Given the description of an element on the screen output the (x, y) to click on. 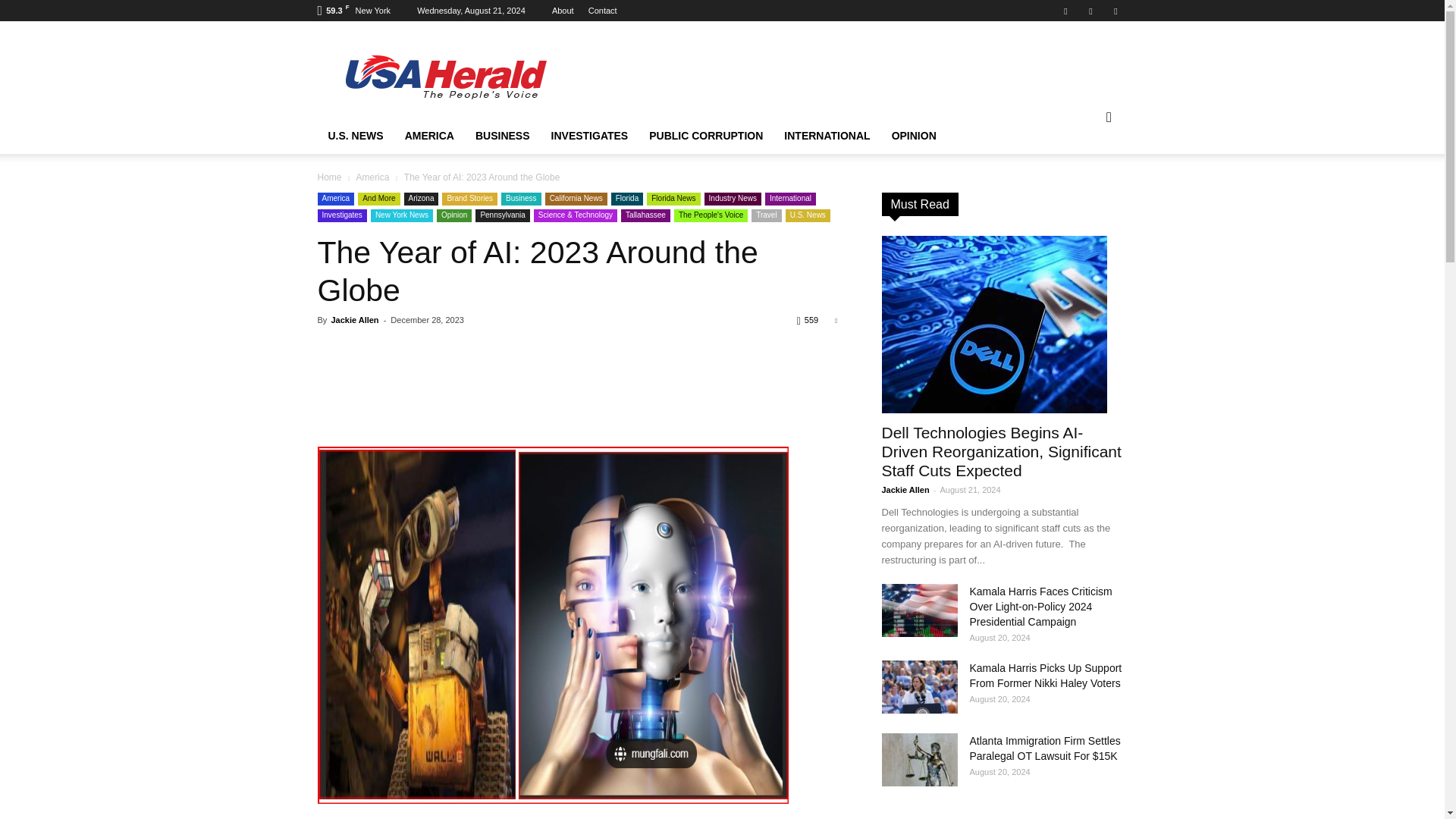
Contact (602, 10)
About (562, 10)
AMERICA (429, 135)
U.S. NEWS (355, 135)
RSS (1090, 10)
BUSINESS (502, 135)
Twitter (1114, 10)
PUBLIC CORRUPTION (706, 135)
Home (445, 76)
INTERNATIONAL (826, 135)
